Given the description of an element on the screen output the (x, y) to click on. 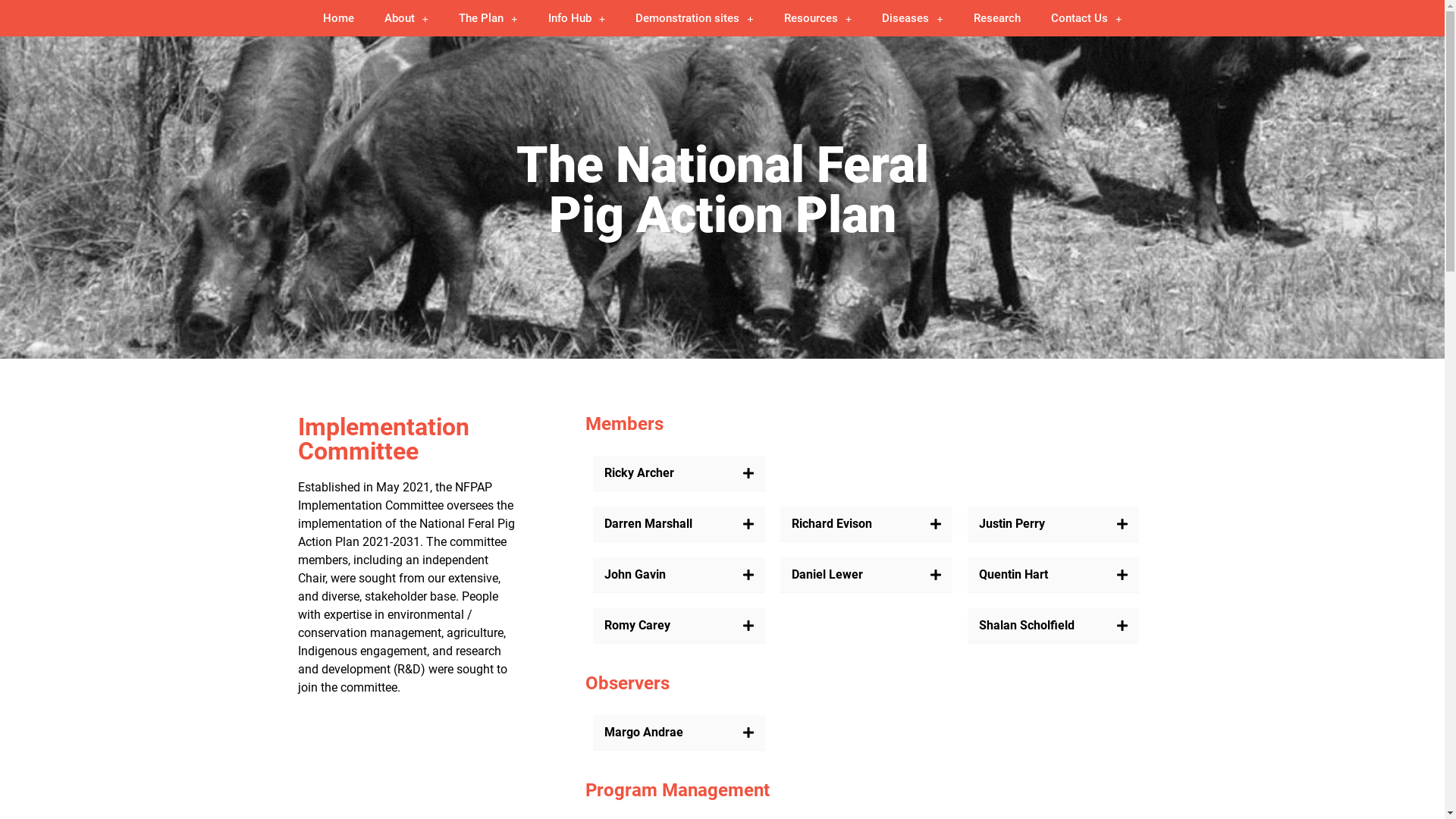
Romy Carey Element type: text (637, 625)
Home Element type: text (338, 18)
Research Element type: text (996, 18)
Contact Us Element type: text (1086, 18)
Ricky Archer Element type: text (639, 472)
Demonstration sites Element type: text (694, 18)
Quentin Hart Element type: text (1013, 574)
John Gavin Element type: text (634, 574)
Info Hub Element type: text (577, 18)
Resources Element type: text (817, 18)
Diseases Element type: text (912, 18)
About Element type: text (406, 18)
Margo Andrae Element type: text (643, 731)
Daniel Lewer Element type: text (826, 574)
Darren Marshall Element type: text (648, 523)
Shalan Scholfield Element type: text (1026, 625)
Justin Perry Element type: text (1011, 523)
Richard Evison Element type: text (831, 523)
The Plan Element type: text (488, 18)
